Given the description of an element on the screen output the (x, y) to click on. 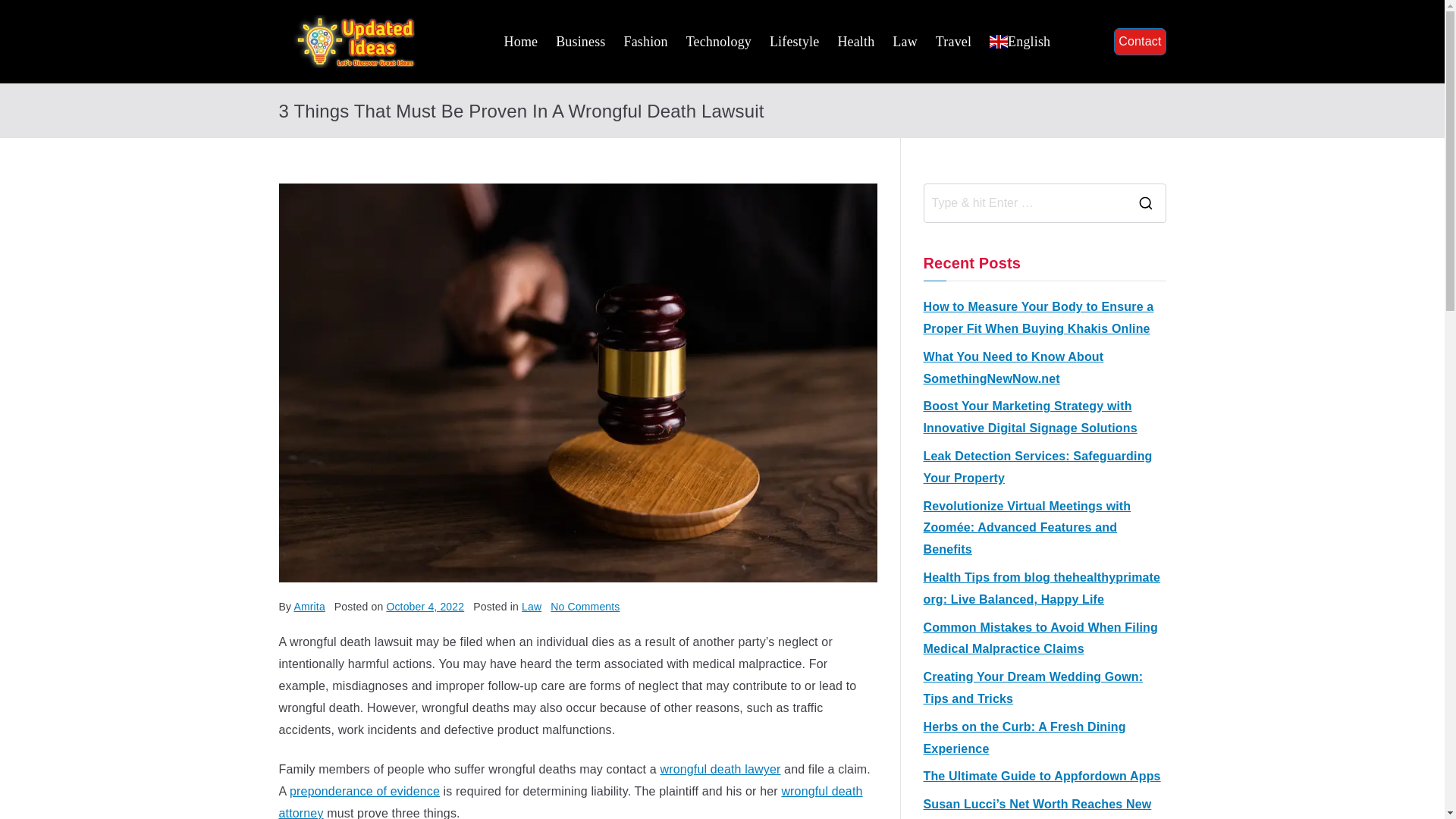
Travel (953, 41)
Updated Ideas (506, 53)
Search for: (1024, 202)
Home (520, 41)
Search (26, 12)
Law (904, 41)
Lifestyle (794, 41)
Fashion (644, 41)
Contact (1139, 41)
Business (580, 41)
